Given the description of an element on the screen output the (x, y) to click on. 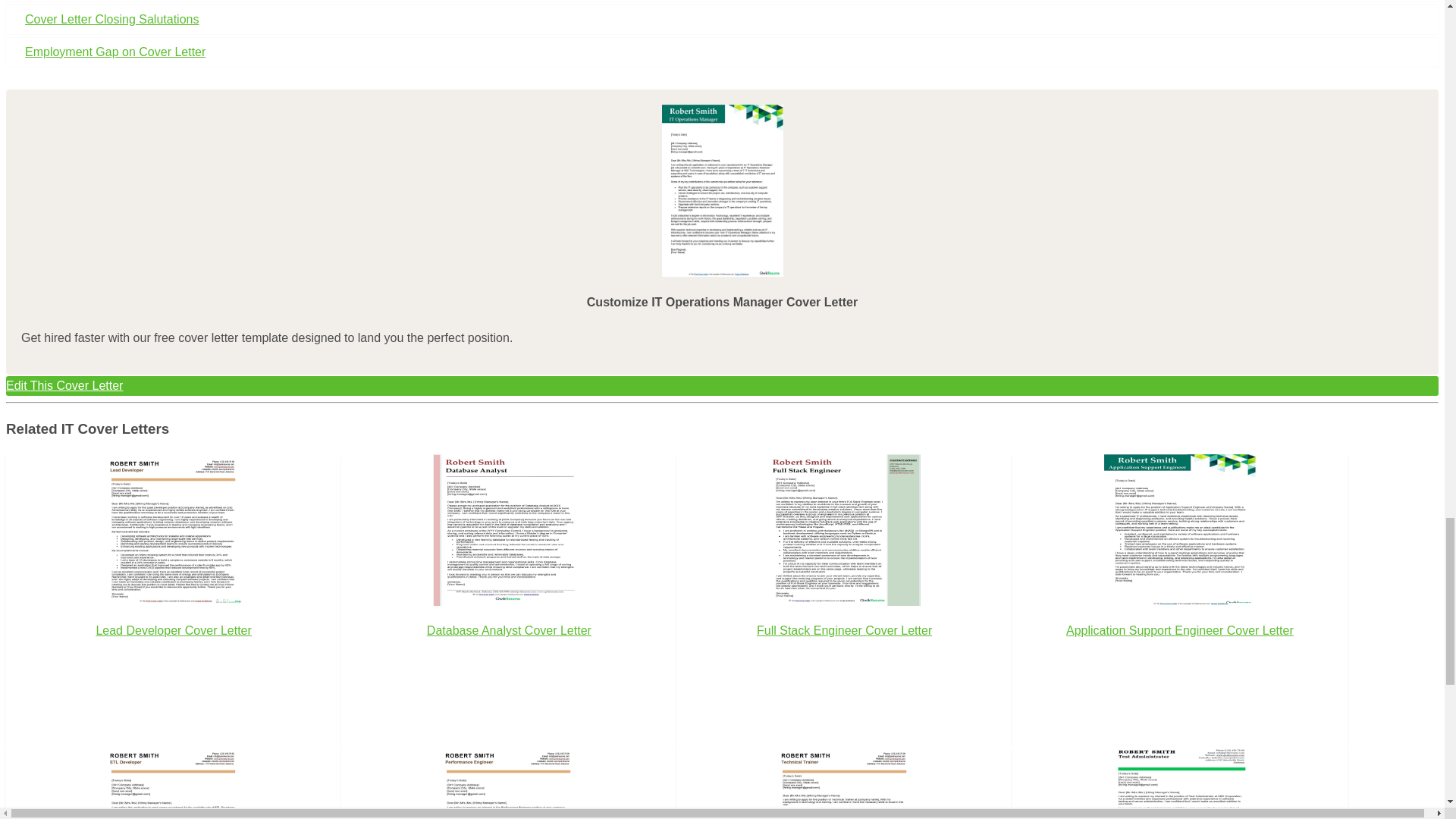
Cover Letter Closing Salutations (721, 19)
ETL Developer Cover Letter (172, 782)
Application Support Engineer Cover Letter (1179, 571)
Performance Engineer Cover Letter (508, 782)
Employment Gap on Cover Letter (721, 51)
Technical Trainer Cover Letter (844, 782)
Employment Gap on Cover Letter (721, 51)
Application Support Engineer Cover Letter Example (1179, 530)
Database Analyst Cover Letter (508, 571)
Performance Engineer Cover Letter Example (508, 782)
Lead Developer Cover Letter (172, 571)
Database Analyst Cover Letter Example (508, 530)
ETL Developer Cover Letter Example (172, 782)
Edit This Cover Letter (721, 385)
